Given the description of an element on the screen output the (x, y) to click on. 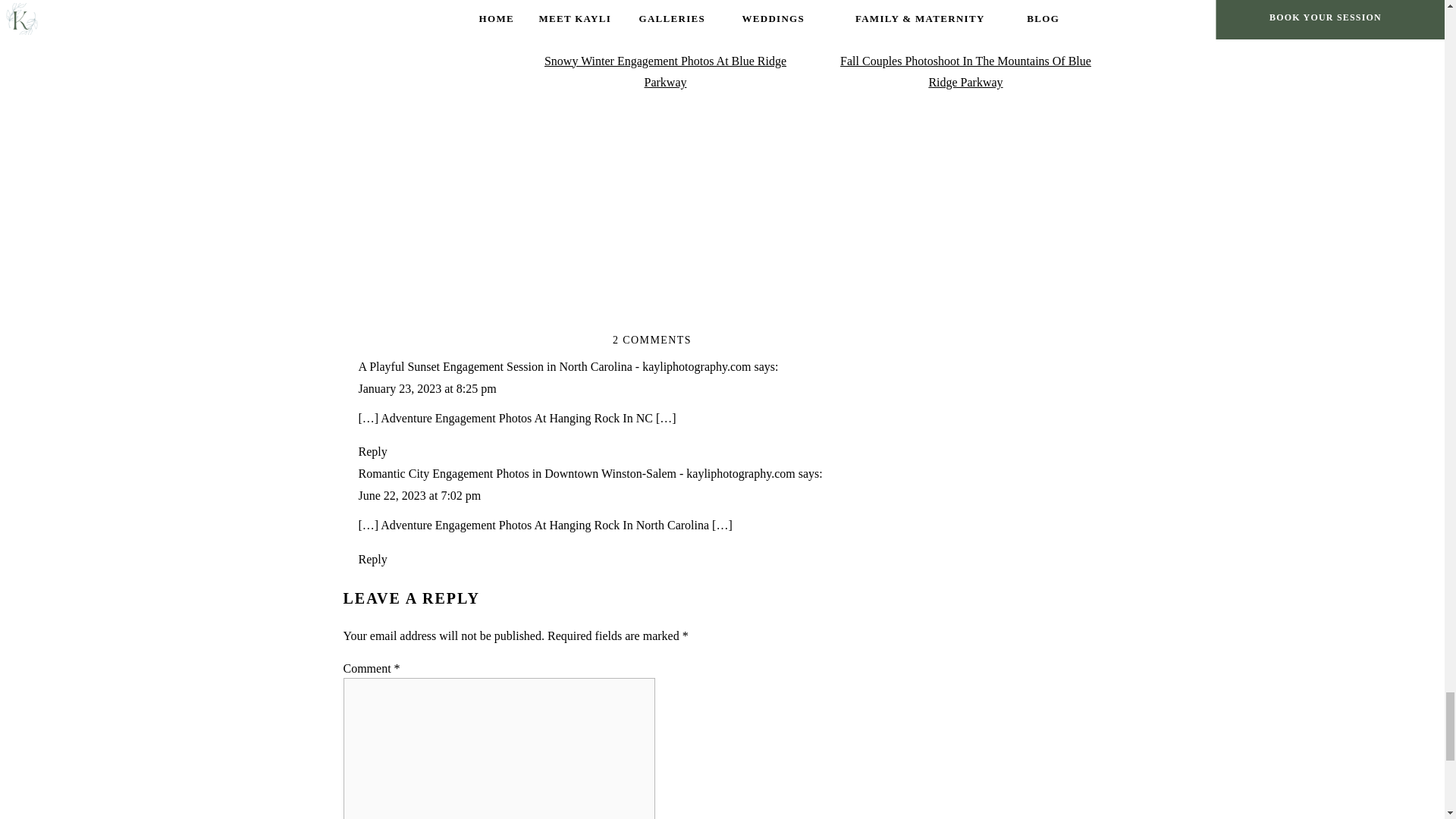
Snowy Winter Engagement Photos At Blue Ridge Parkway (665, 71)
Reply (372, 558)
January 23, 2023 at 8:25 pm (427, 388)
Reply (372, 451)
June 22, 2023 at 7:02 pm (419, 495)
